Given the description of an element on the screen output the (x, y) to click on. 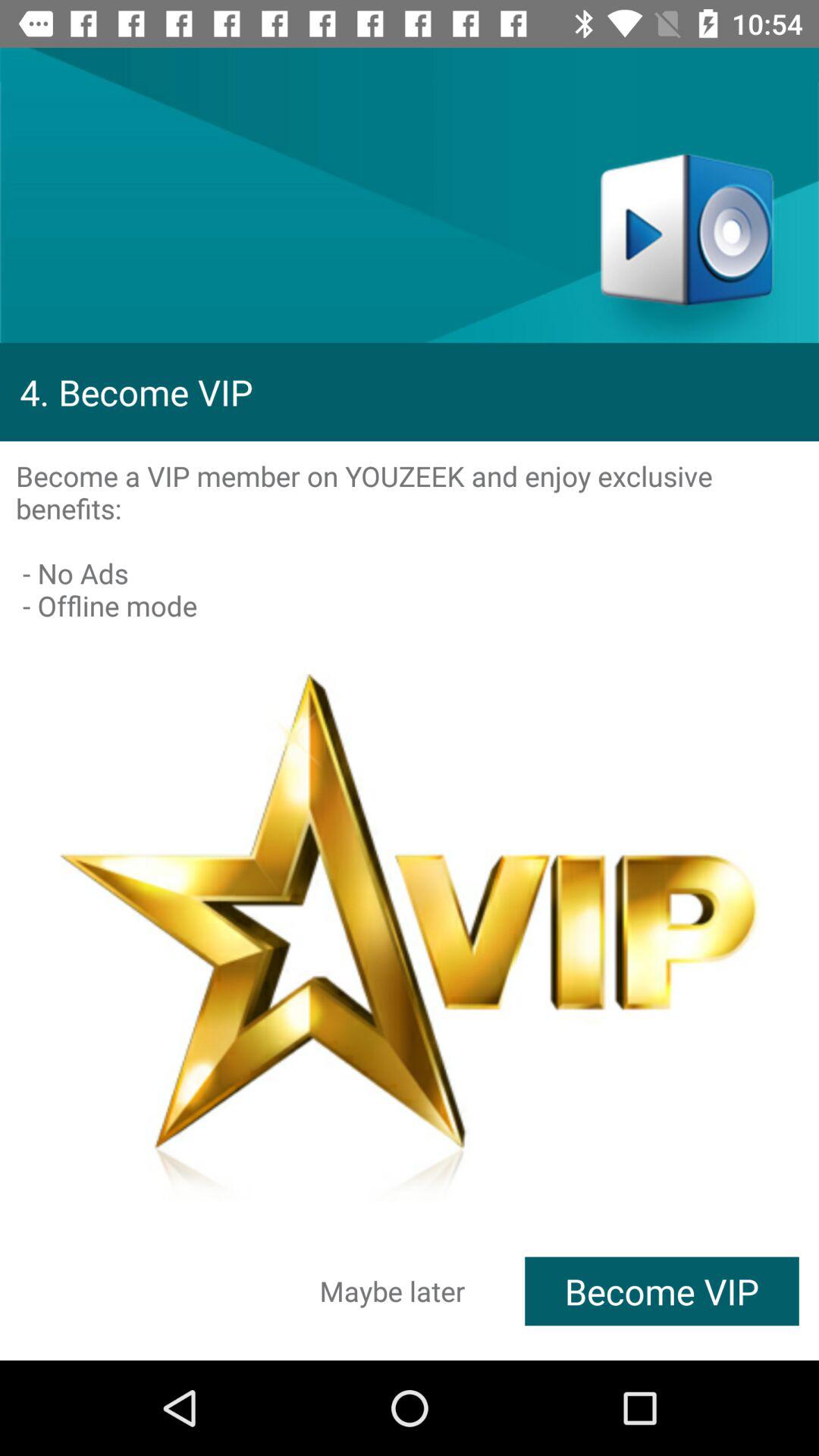
turn on item next to become vip icon (392, 1291)
